Given the description of an element on the screen output the (x, y) to click on. 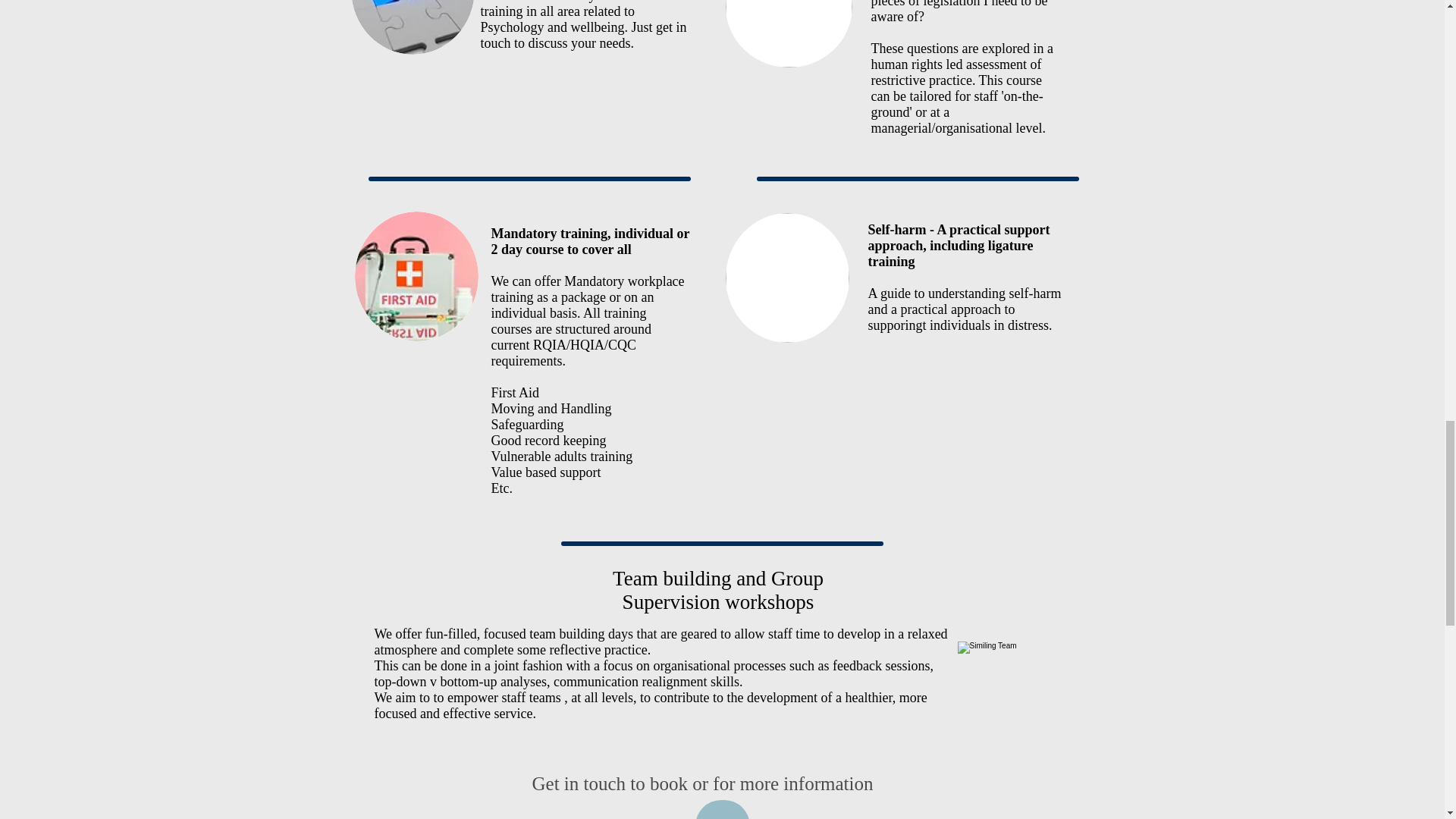
Human-rights-picture.jpg (788, 33)
Missing Piece  (412, 27)
First Aid box on pink BG (417, 276)
